Given the description of an element on the screen output the (x, y) to click on. 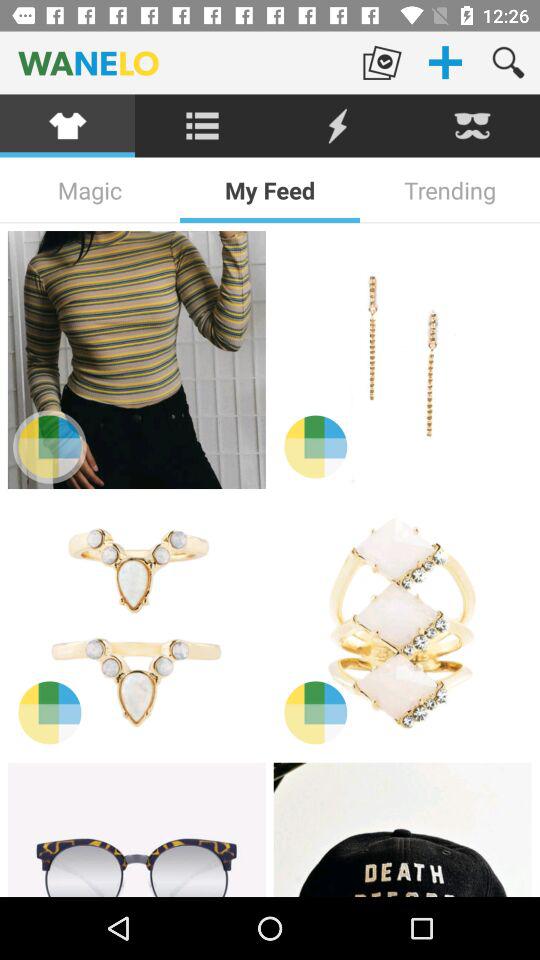
selct clothing option (67, 125)
